Given the description of an element on the screen output the (x, y) to click on. 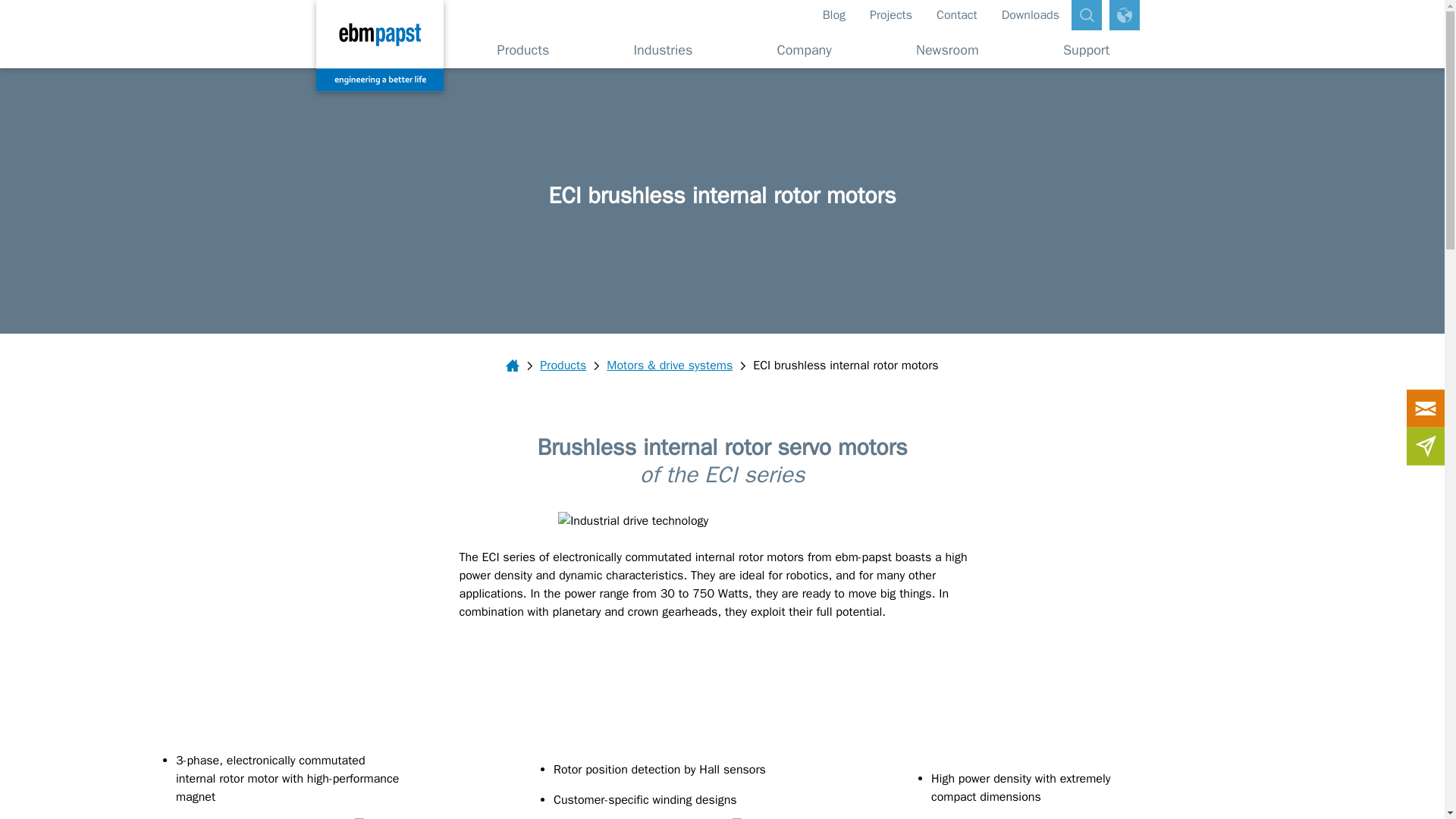
Blog (833, 15)
Company (804, 48)
Search (1086, 15)
Contact (957, 15)
Support (1080, 48)
Newsroom (947, 48)
Projects (890, 15)
Downloads (1030, 15)
Language picker (1124, 15)
Industries (662, 48)
Products (523, 48)
